Given the description of an element on the screen output the (x, y) to click on. 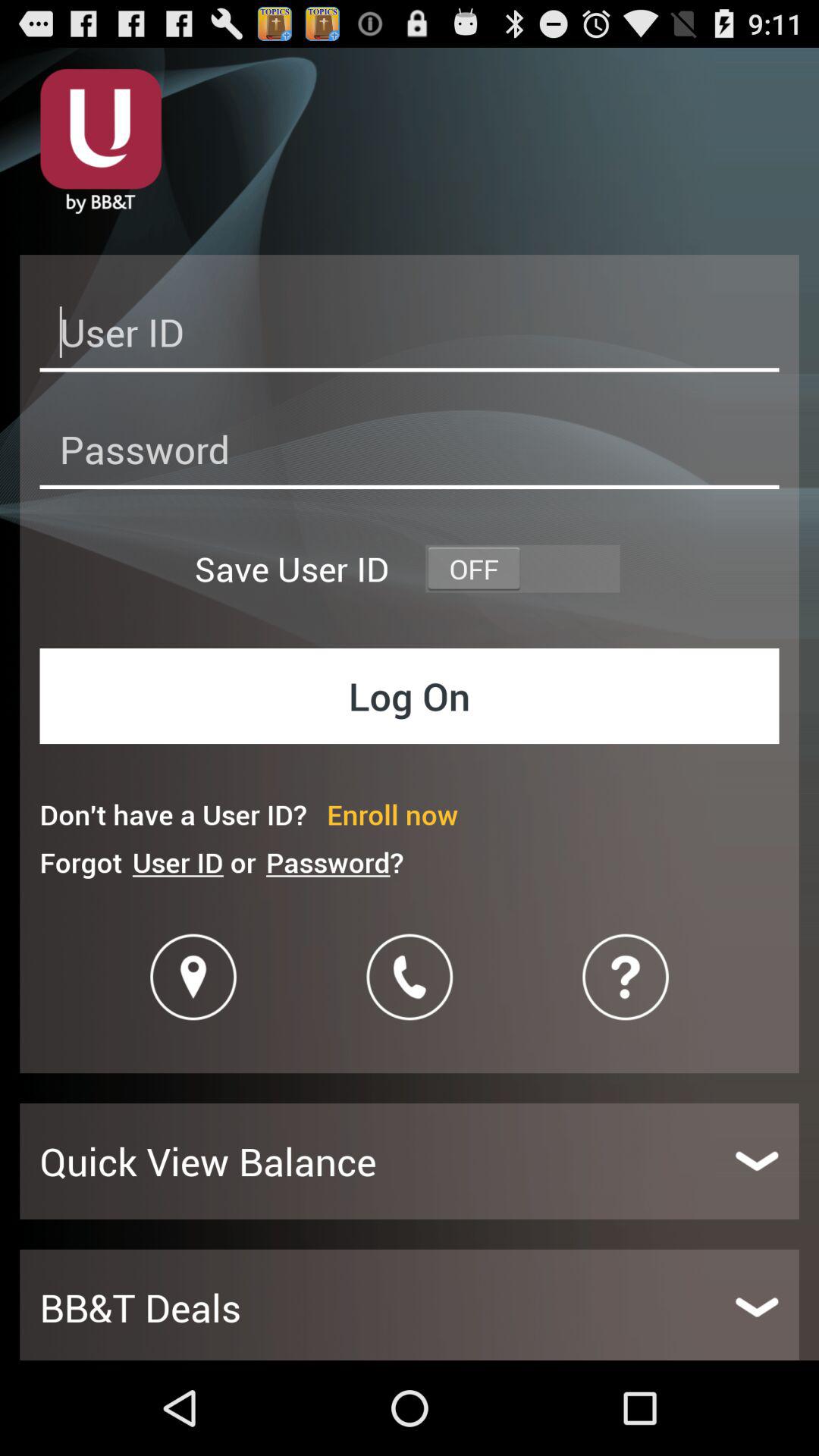
flip until password? (334, 861)
